Given the description of an element on the screen output the (x, y) to click on. 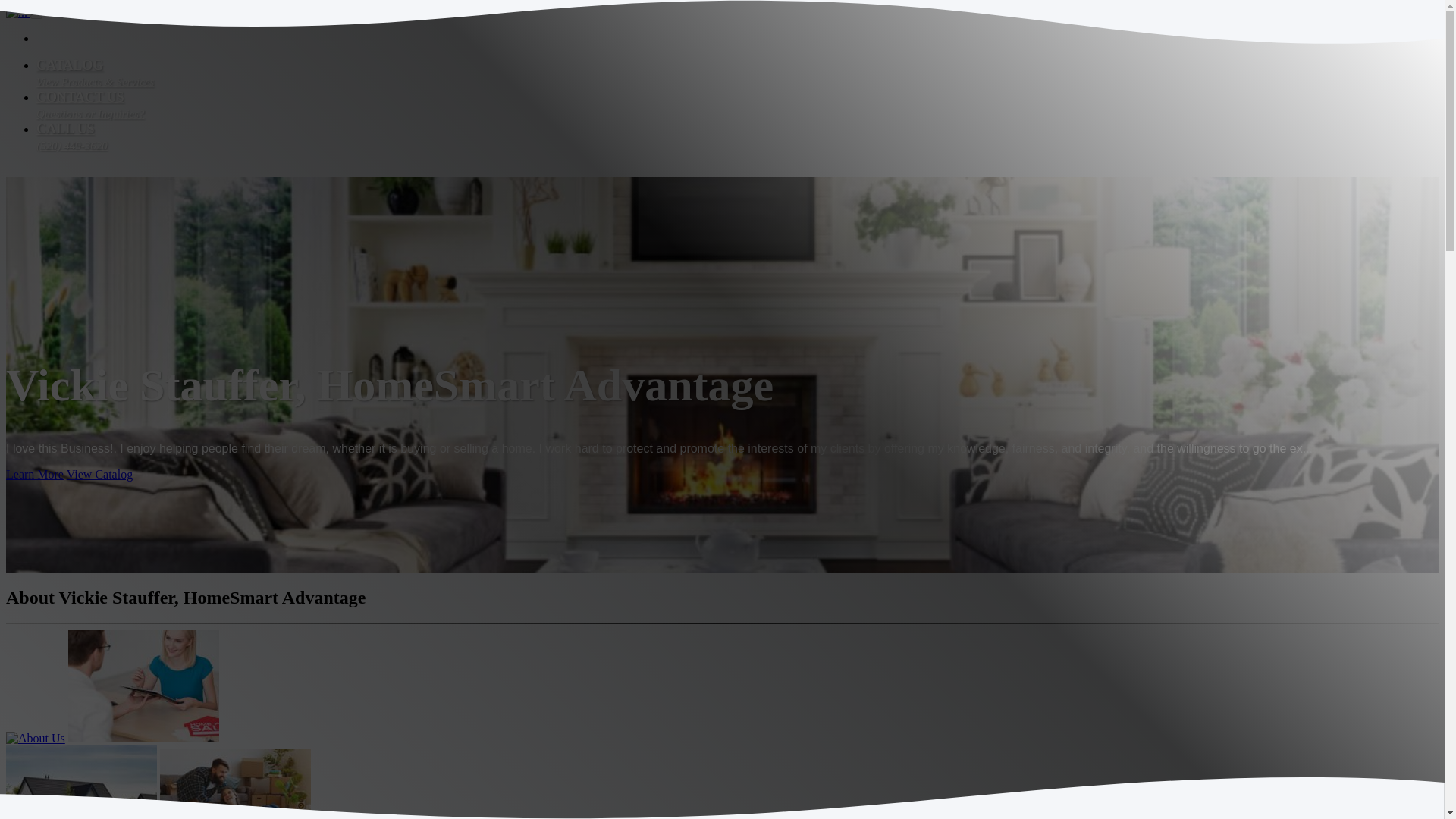
Learn More (90, 104)
View Catalog (34, 473)
